Given the description of an element on the screen output the (x, y) to click on. 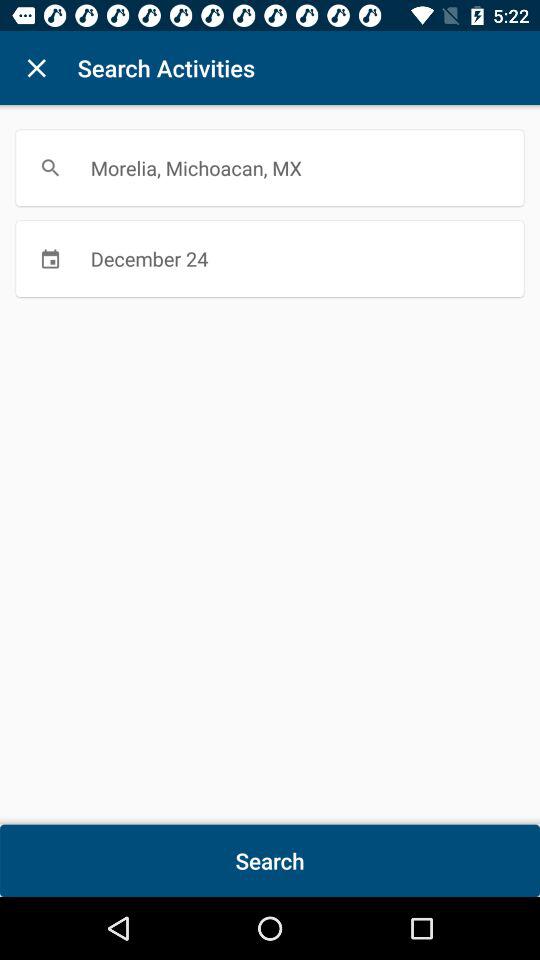
click the icon below the morelia, michoacan, mx icon (269, 258)
